Given the description of an element on the screen output the (x, y) to click on. 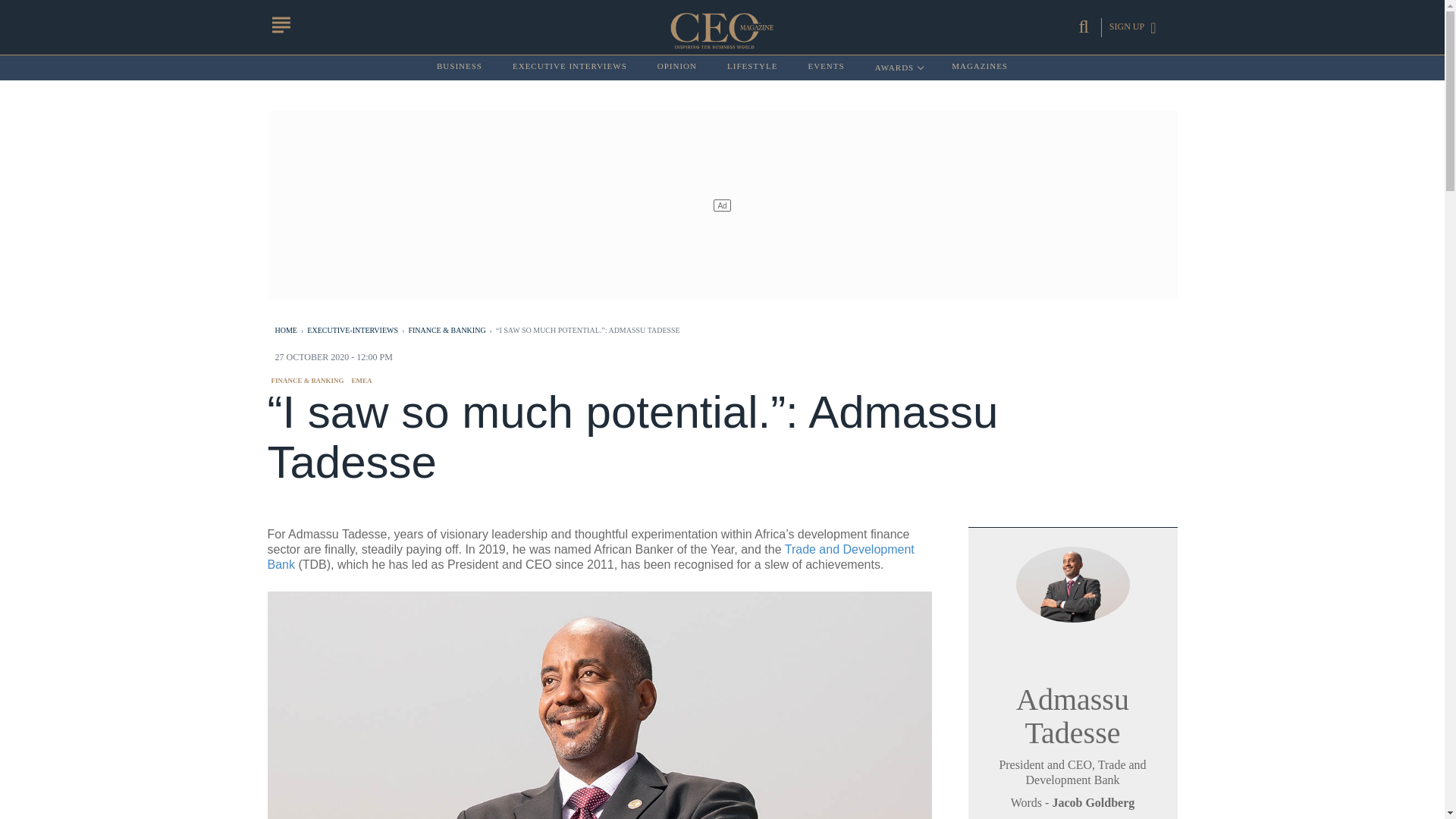
BUSINESS (458, 66)
MAGAZINES (979, 66)
EMEA (362, 380)
Opinion (677, 66)
LIFESTYLE (751, 66)
Trade and Development Bank (590, 556)
OPINION (677, 66)
EXECUTIVE INTERVIEWS (898, 67)
EMEA (569, 66)
EVENTS (362, 380)
Skip to content (826, 66)
